Given the description of an element on the screen output the (x, y) to click on. 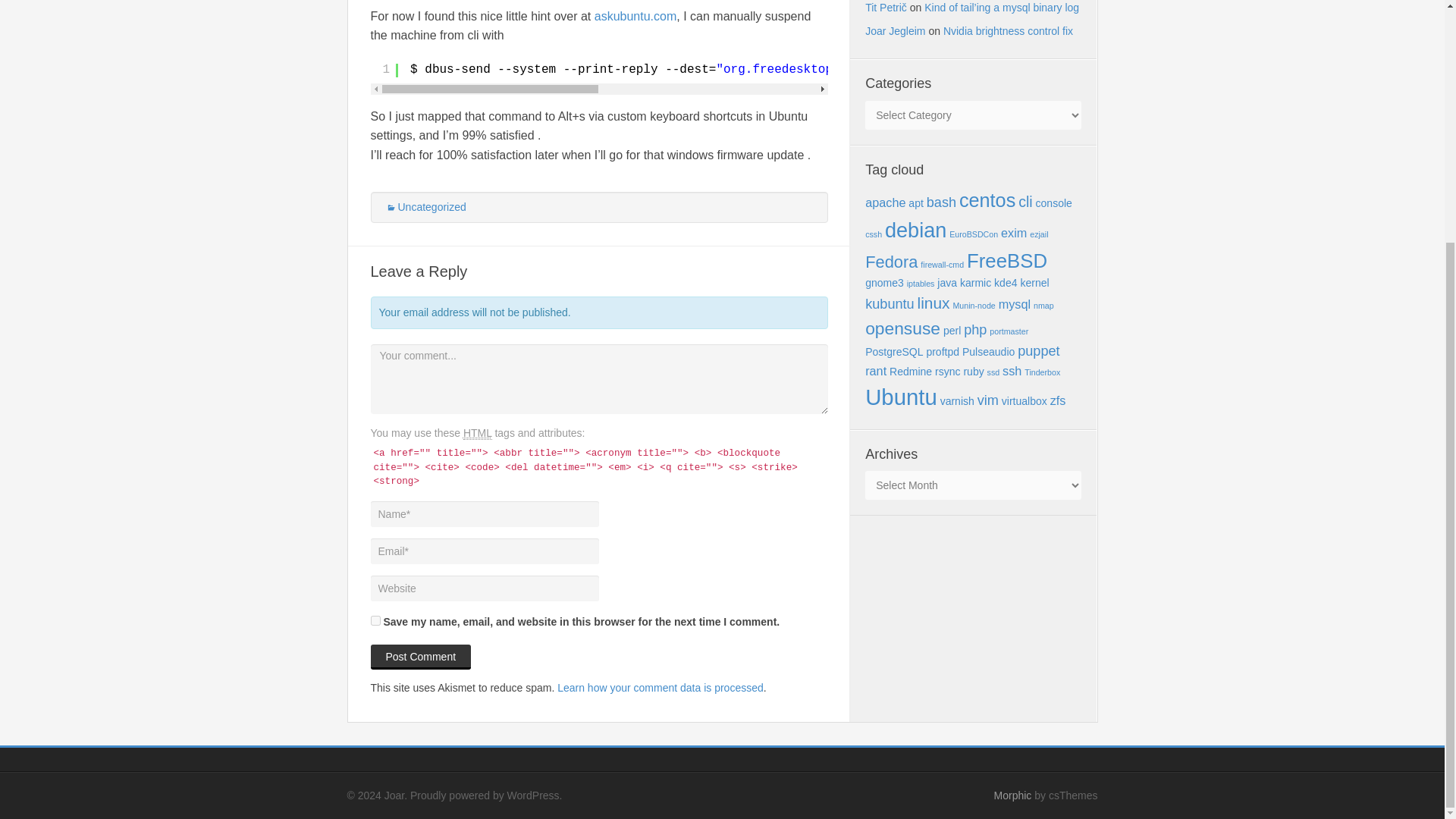
Post Comment (419, 656)
Uncategorized (425, 206)
Post Comment (419, 656)
Learn how your comment data is processed (659, 687)
yes (374, 620)
askubuntu.com (635, 15)
